Given the description of an element on the screen output the (x, y) to click on. 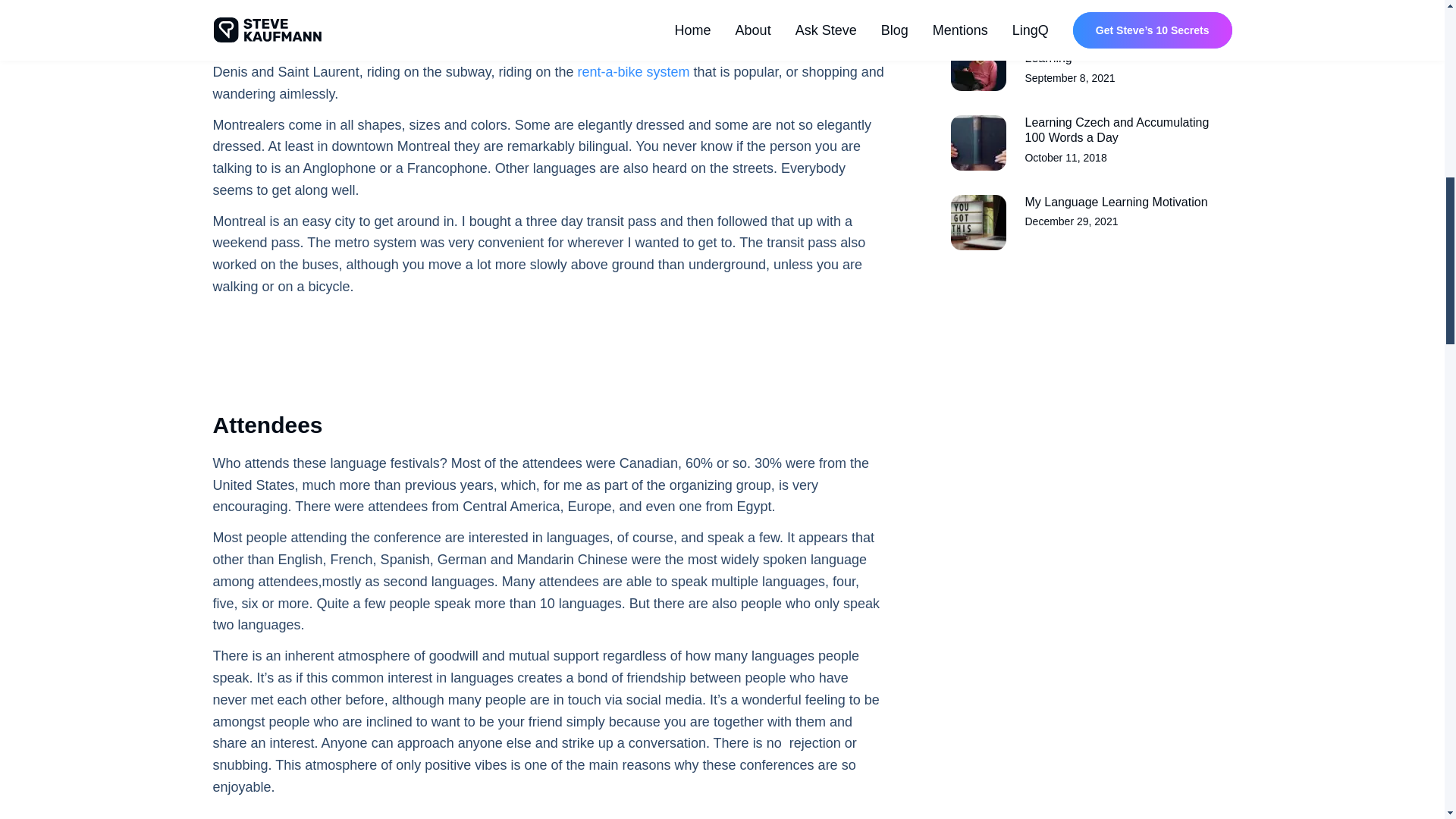
rent-a-bike system (1090, 63)
